Given the description of an element on the screen output the (x, y) to click on. 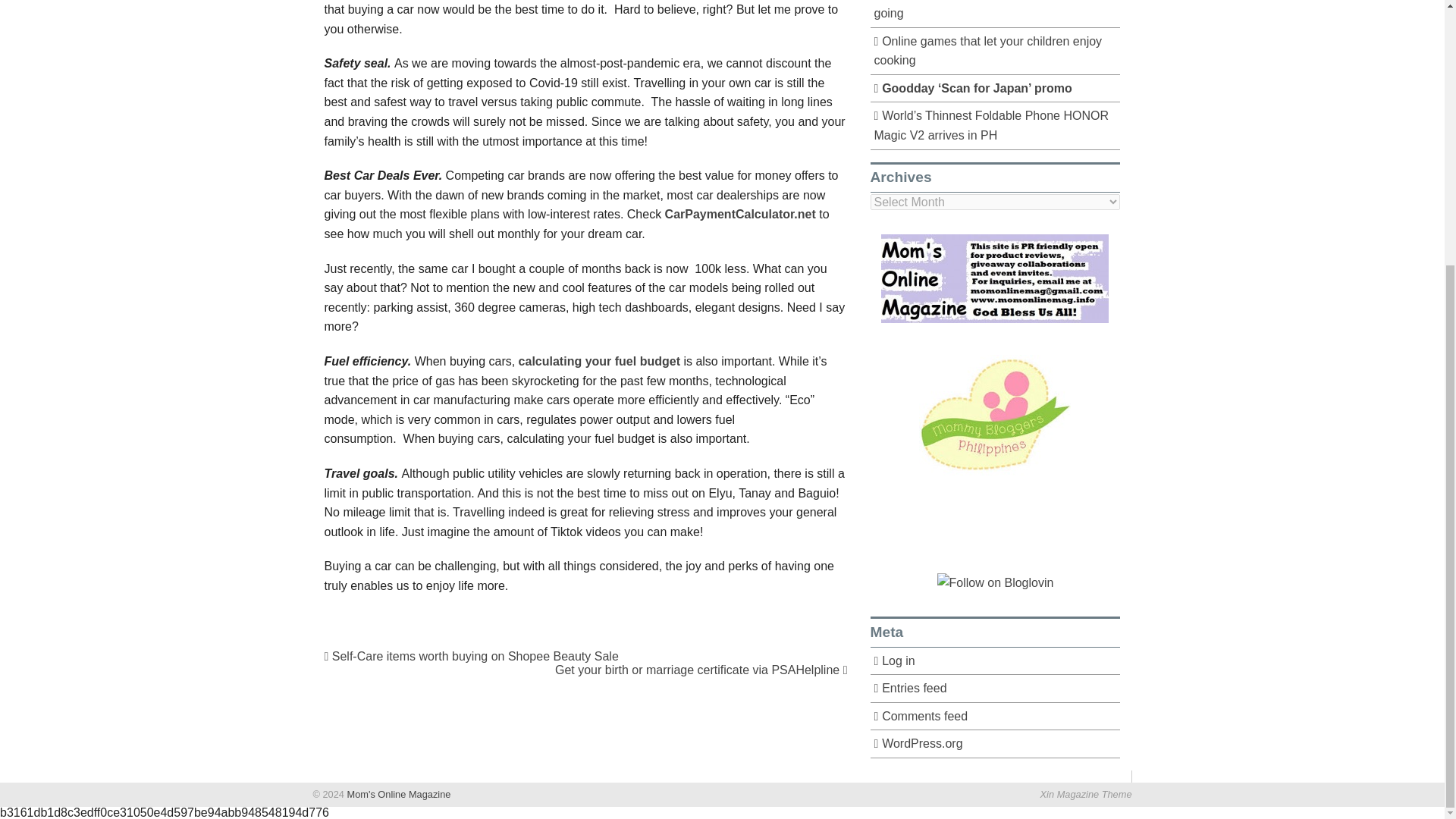
Comments feed (995, 716)
calculating your fuel budget (601, 360)
Entries feed (995, 688)
Follow Mom's Online Magazine on Bloglovin (995, 581)
Mom's Online Magazine (396, 794)
Mom's Online Magazine (396, 794)
Self-Care items worth buying on Shopee Beauty Sale (471, 656)
Designed by Stephen Cui (1086, 794)
WordPress.org (995, 744)
Xin Magazine Theme (1086, 794)
